Given the description of an element on the screen output the (x, y) to click on. 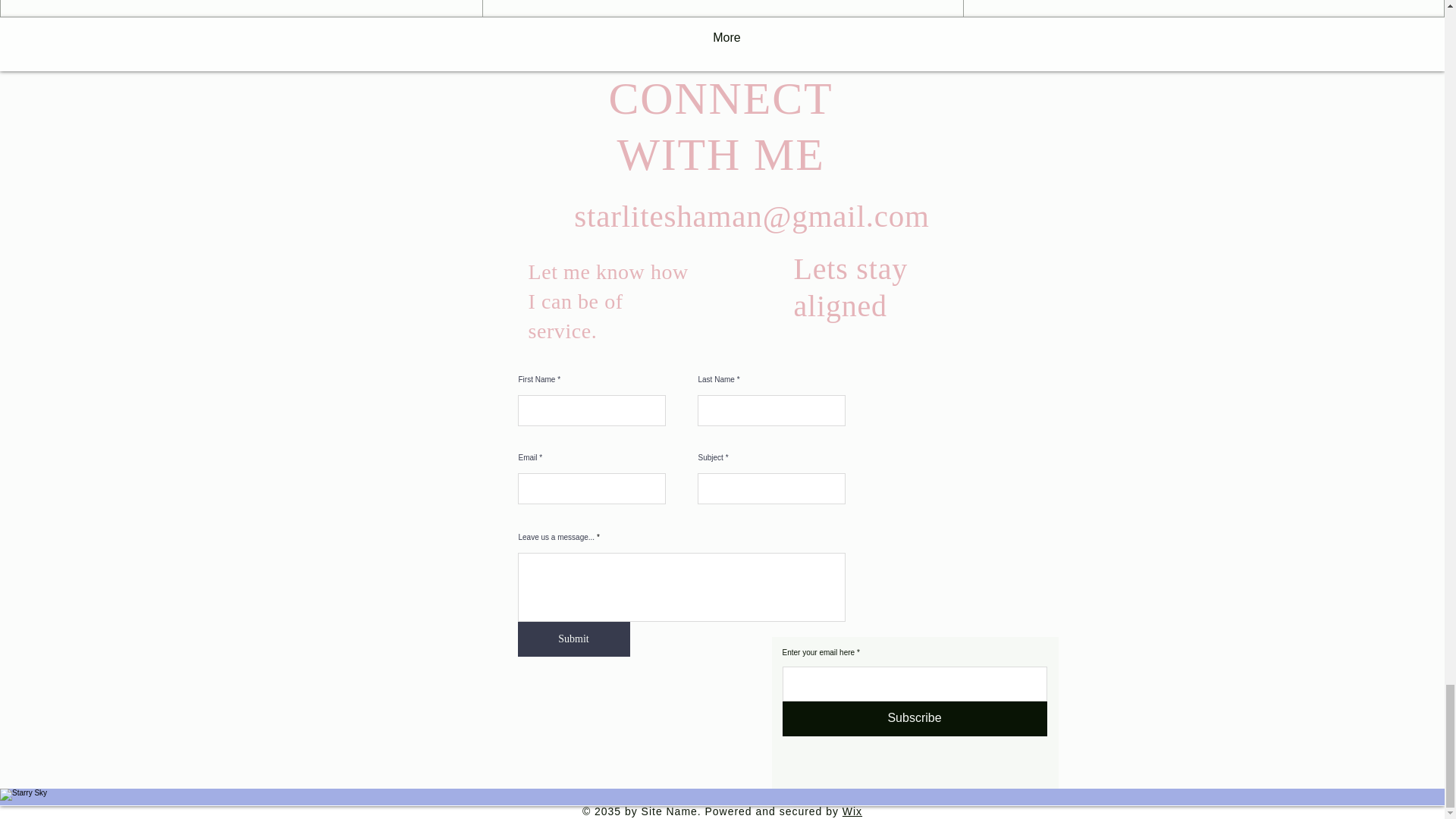
Subscribe (914, 718)
Submit (572, 638)
Wix (852, 811)
